Given the description of an element on the screen output the (x, y) to click on. 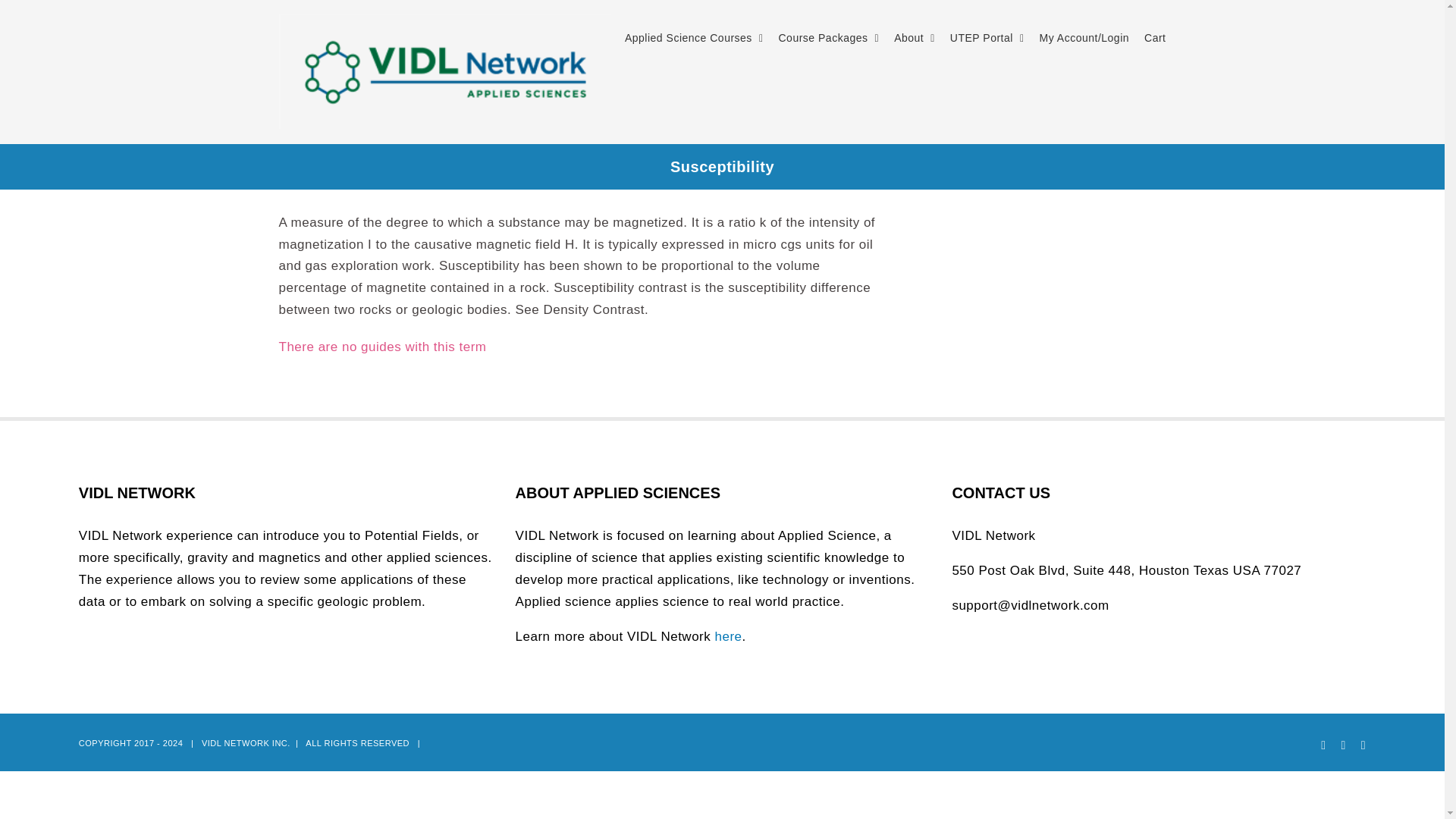
Applied Science Courses (693, 38)
Course Packages (828, 38)
